Given the description of an element on the screen output the (x, y) to click on. 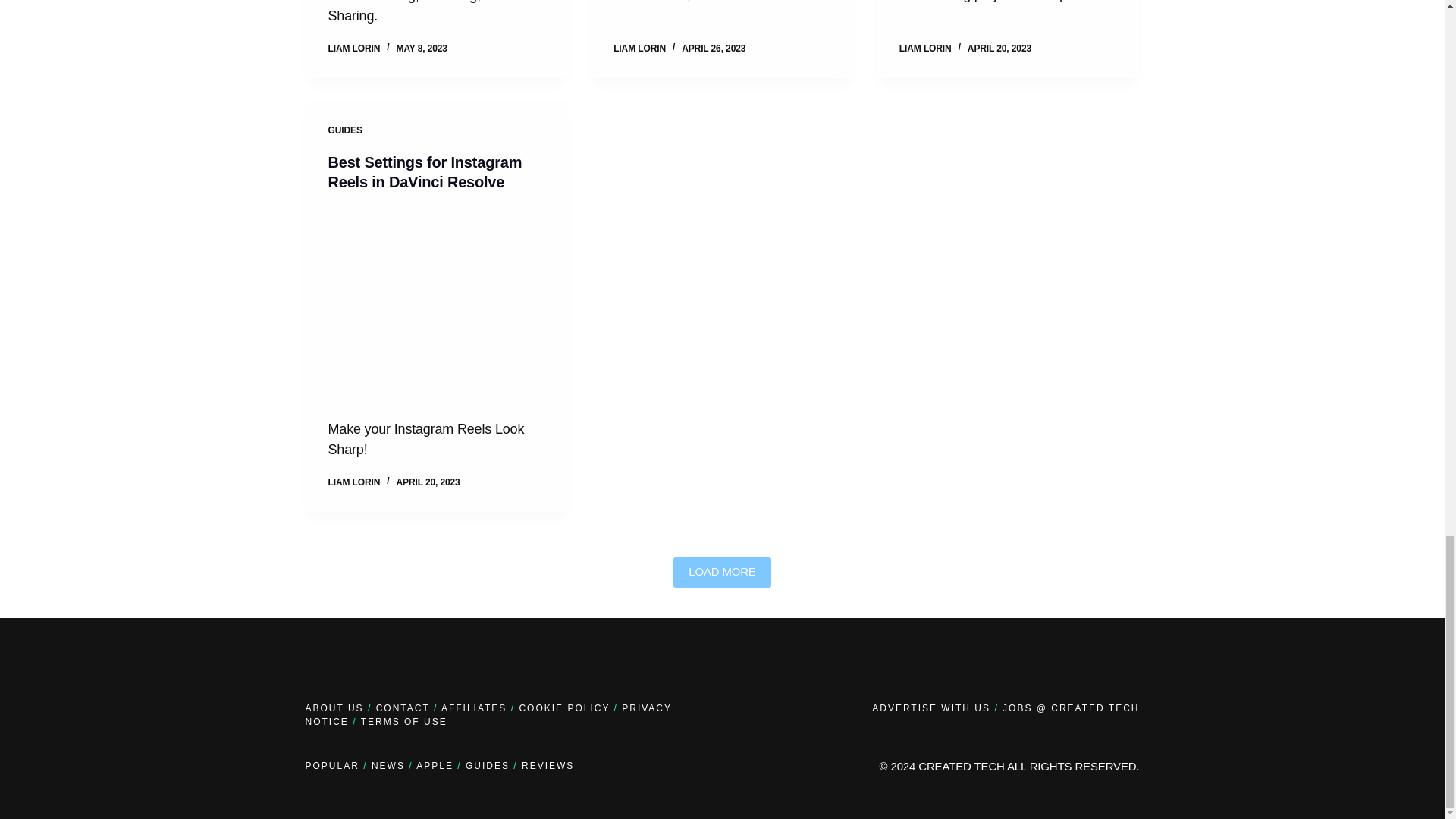
Posts by Liam Lorin (353, 481)
Posts by Liam Lorin (353, 48)
Posts by Liam Lorin (638, 48)
Posts by Liam Lorin (925, 48)
